Given the description of an element on the screen output the (x, y) to click on. 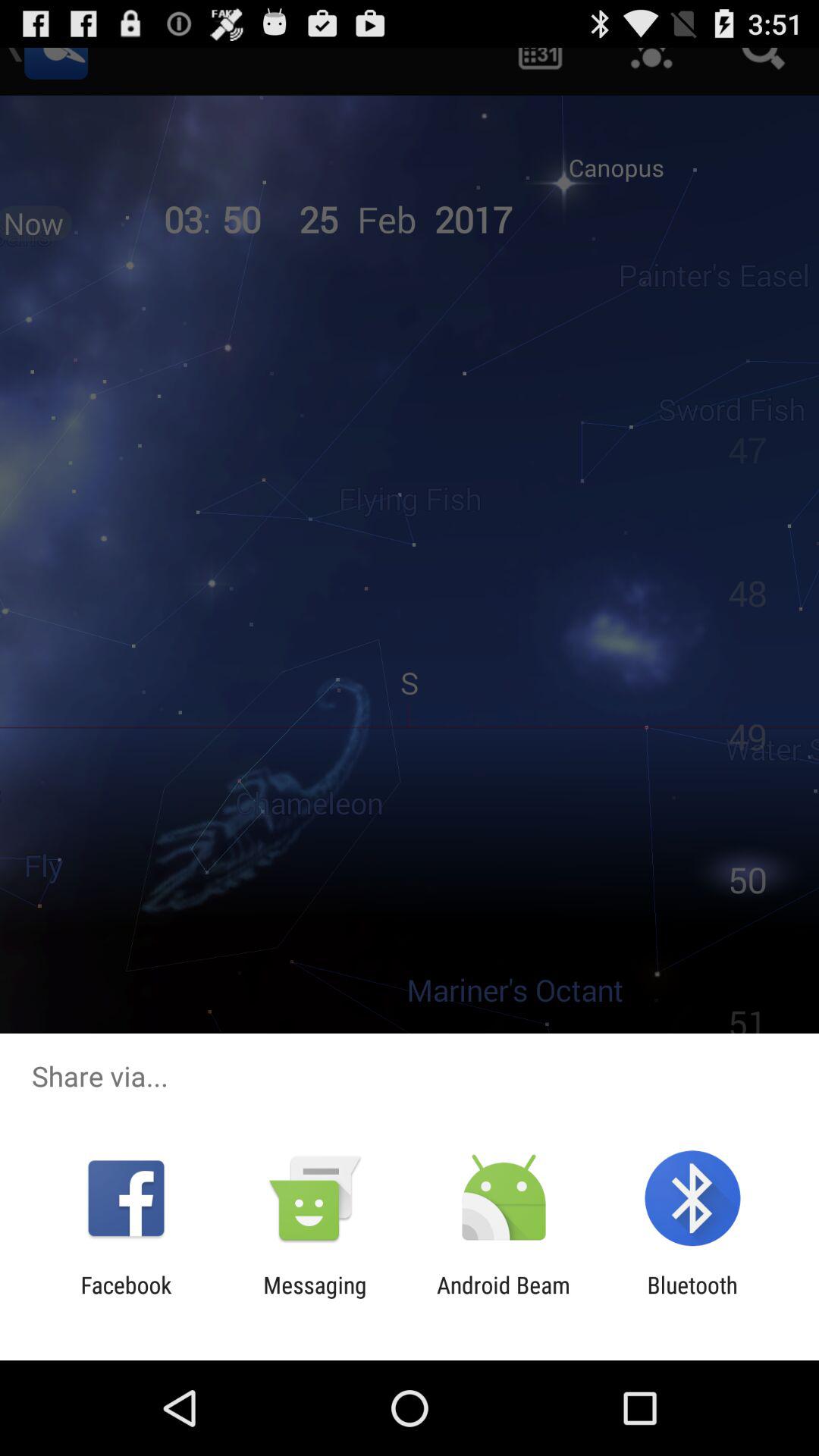
press item to the left of bluetooth icon (503, 1298)
